Given the description of an element on the screen output the (x, y) to click on. 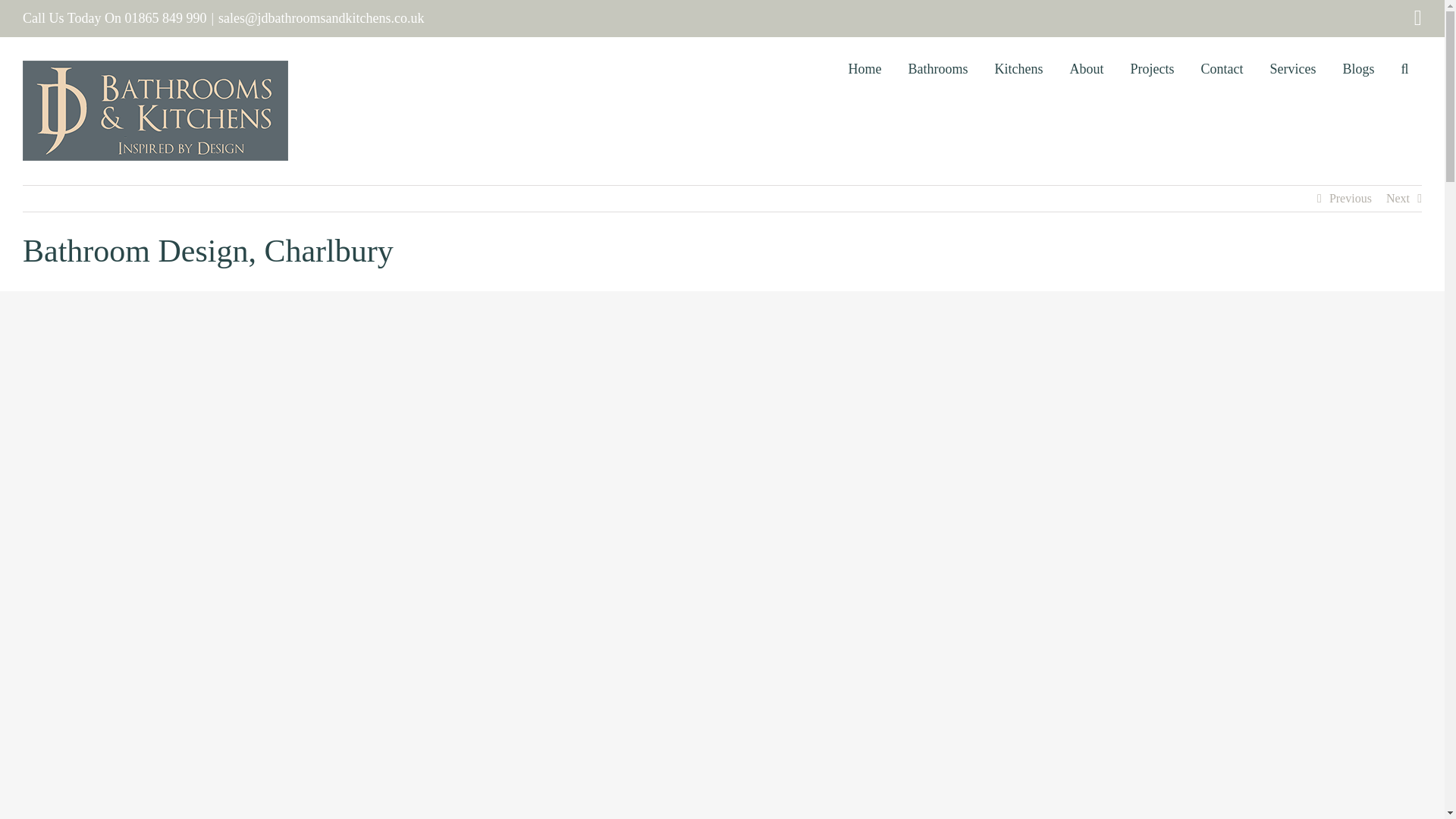
Projects (1152, 68)
Home (864, 68)
About (1086, 68)
Contact (1222, 68)
Services (1292, 68)
Previous (1350, 198)
Bathrooms (938, 68)
Next (1397, 198)
Kitchens (1019, 68)
